Given the description of an element on the screen output the (x, y) to click on. 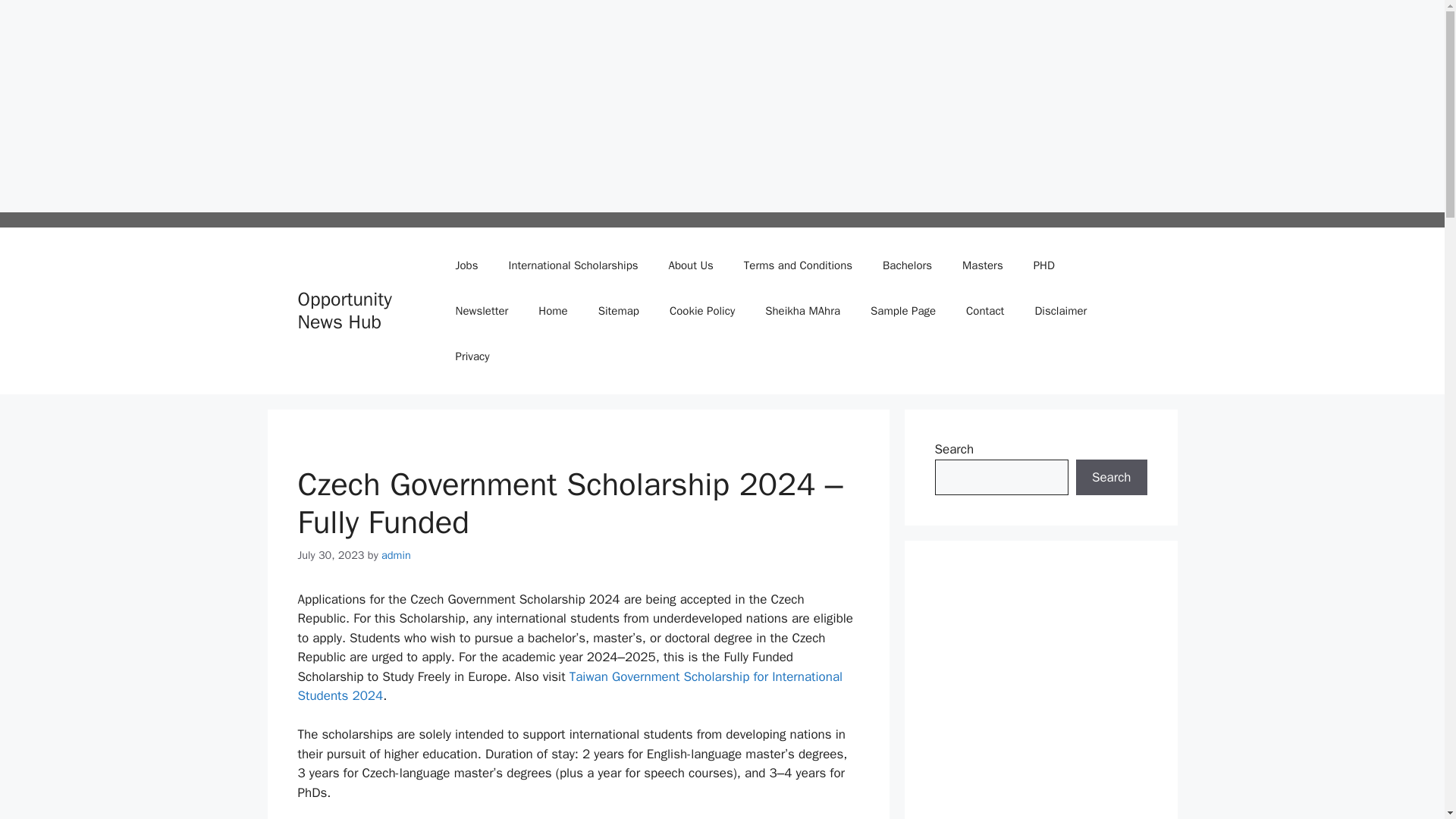
About Us (691, 265)
Newsletter (482, 310)
Opportunity News Hub (344, 310)
Terms and Conditions (798, 265)
Contact (984, 310)
Privacy (473, 356)
Search (1111, 477)
Disclaimer (1060, 310)
Sitemap (618, 310)
Cookie Policy (701, 310)
Sheikha MAhra (802, 310)
Home (552, 310)
admin (395, 554)
PHD (1043, 265)
Jobs (467, 265)
